Given the description of an element on the screen output the (x, y) to click on. 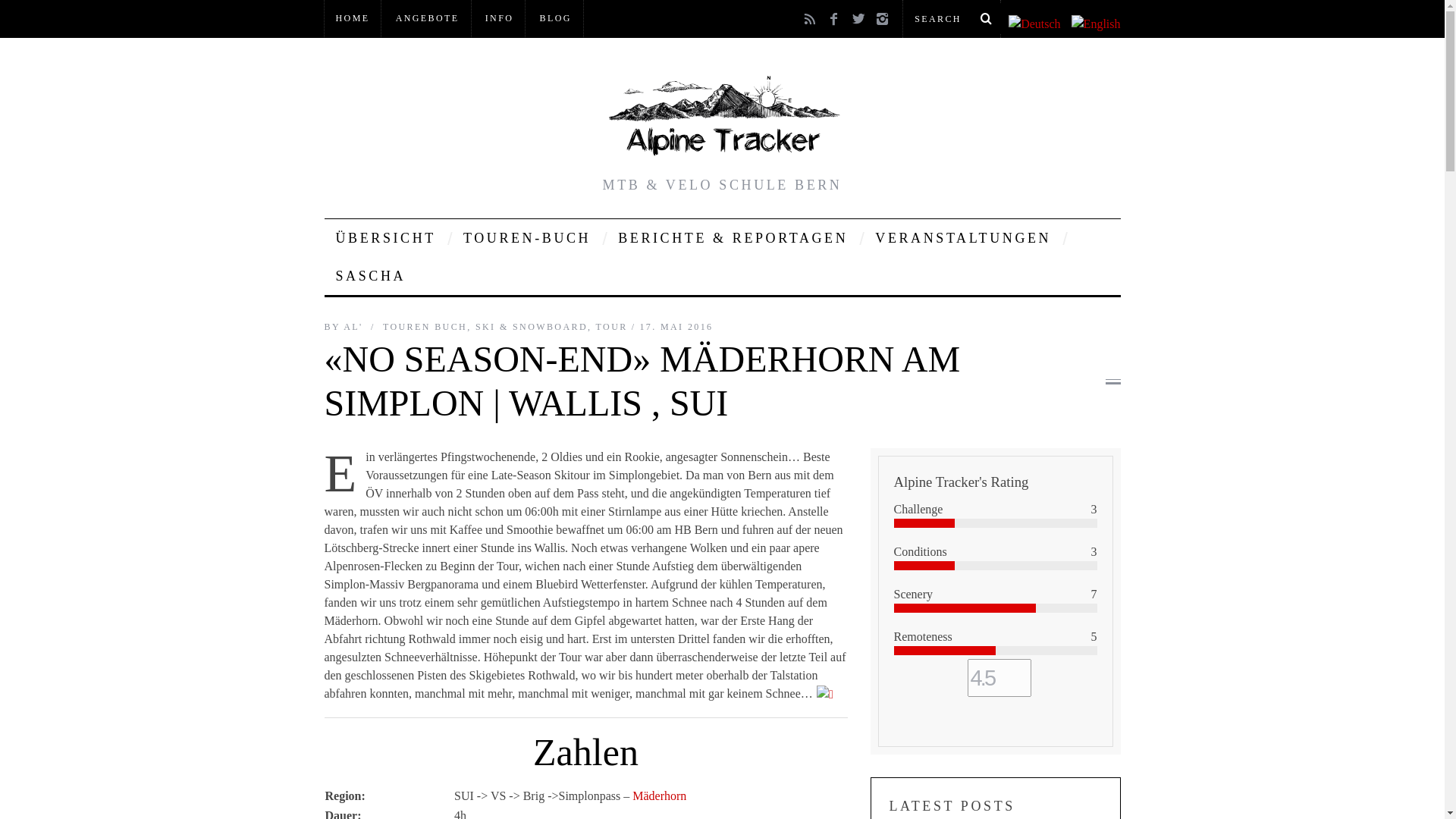
TOUR Element type: text (611, 326)
TOUREN-BUCH Element type: text (526, 238)
SKI & SNOWBOARD Element type: text (531, 326)
SASCHA Element type: text (370, 275)
English Element type: hover (1095, 24)
TOUREN BUCH Element type: text (424, 326)
AL' Element type: text (355, 326)
BLOG Element type: text (555, 17)
Deutsch Element type: hover (1034, 24)
HOME Element type: text (352, 17)
INFO Element type: text (499, 17)
BERICHTE & REPORTAGEN Element type: text (732, 238)
ANGEBOTE Element type: text (427, 17)
VERANSTALTUNGEN Element type: text (962, 238)
